Given the description of an element on the screen output the (x, y) to click on. 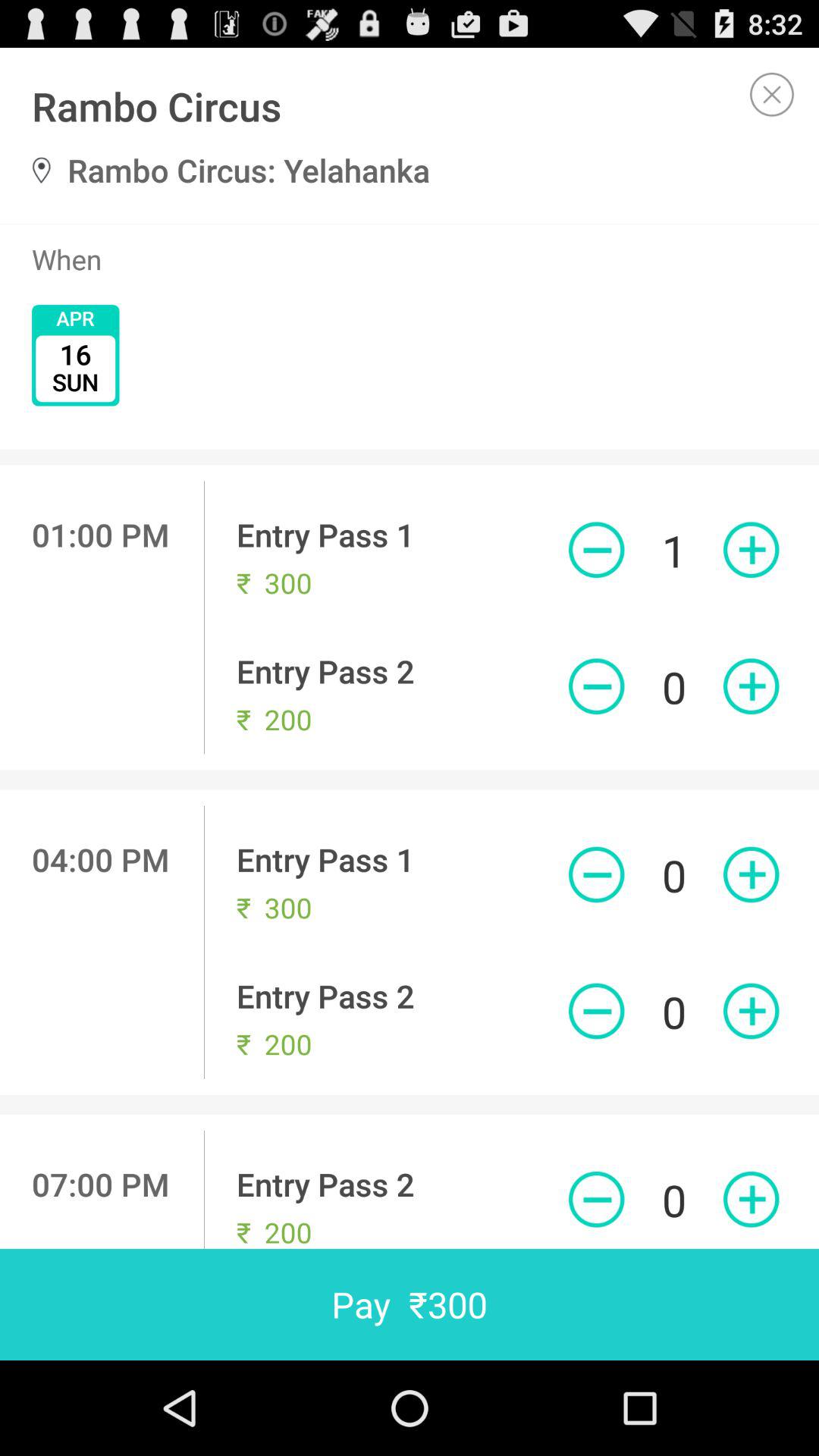
click plus to select (751, 1199)
